Given the description of an element on the screen output the (x, y) to click on. 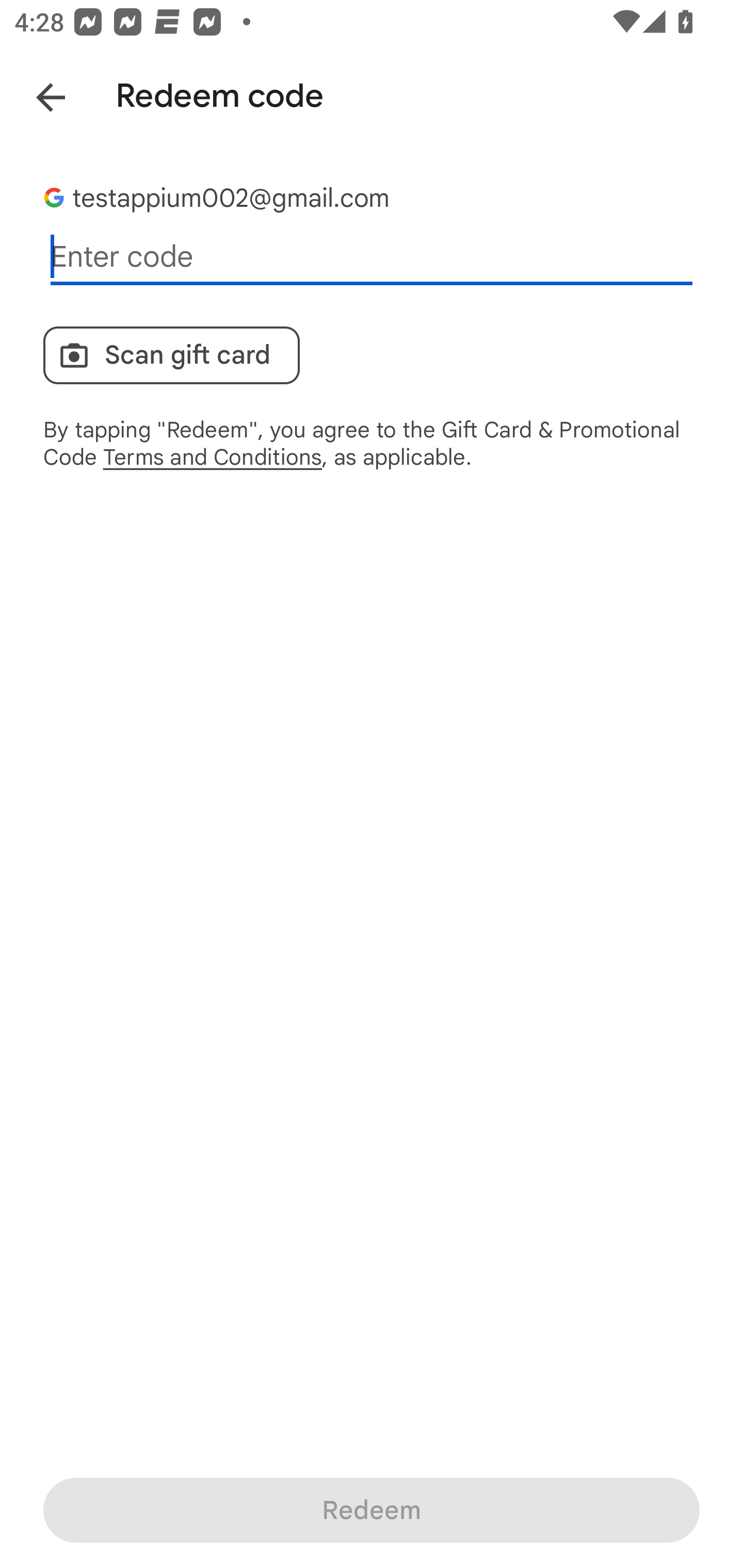
Back (36, 94)
Enter code (371, 256)
Scan gift card (171, 355)
